Given the description of an element on the screen output the (x, y) to click on. 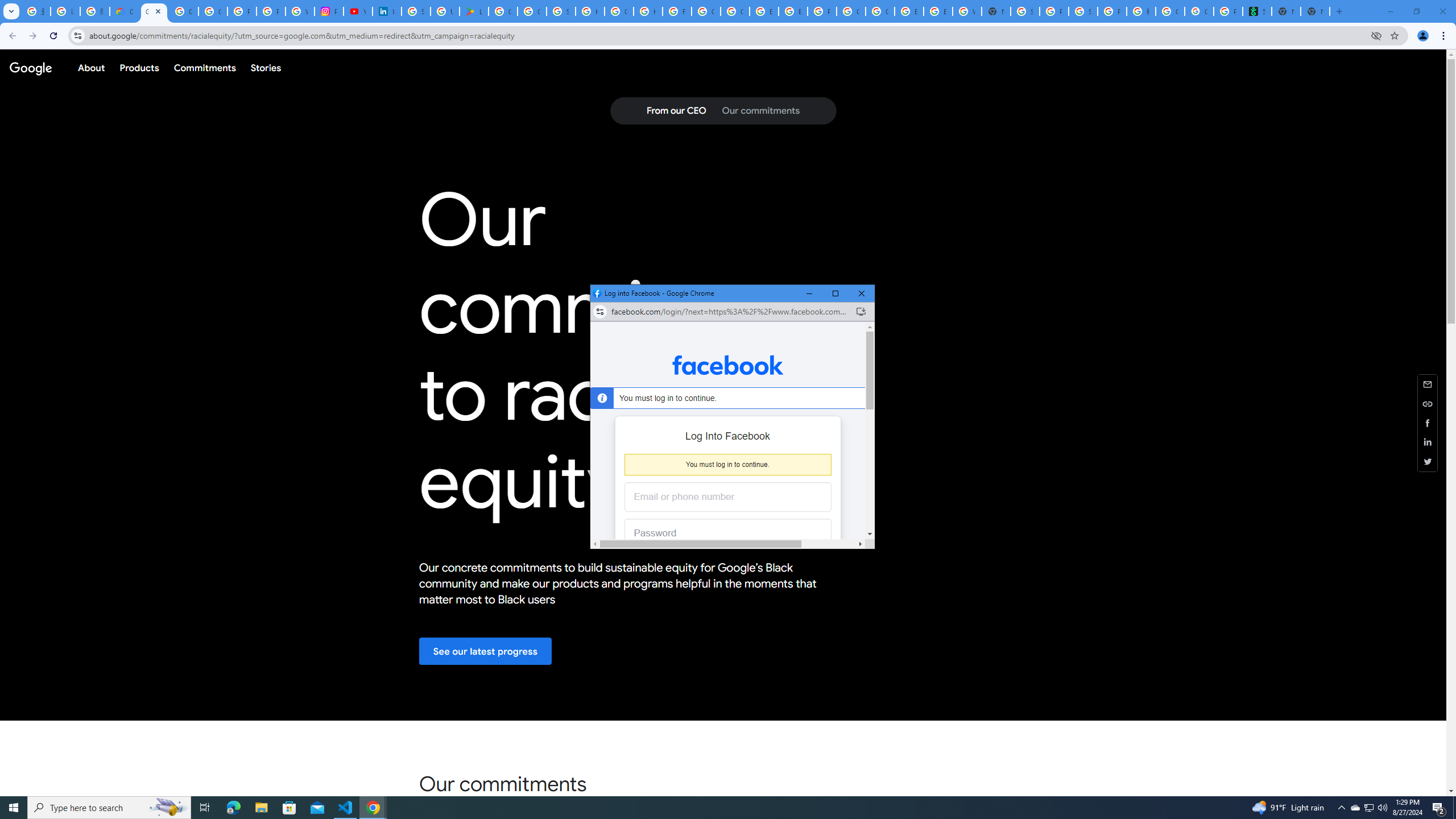
New Tab (996, 11)
Browse Chrome as a guest - Computer - Google Chrome Help (763, 11)
See our latest progress (485, 651)
Google Workspace - Specific Terms (531, 11)
Share this page (Email) (1427, 383)
